Given the description of an element on the screen output the (x, y) to click on. 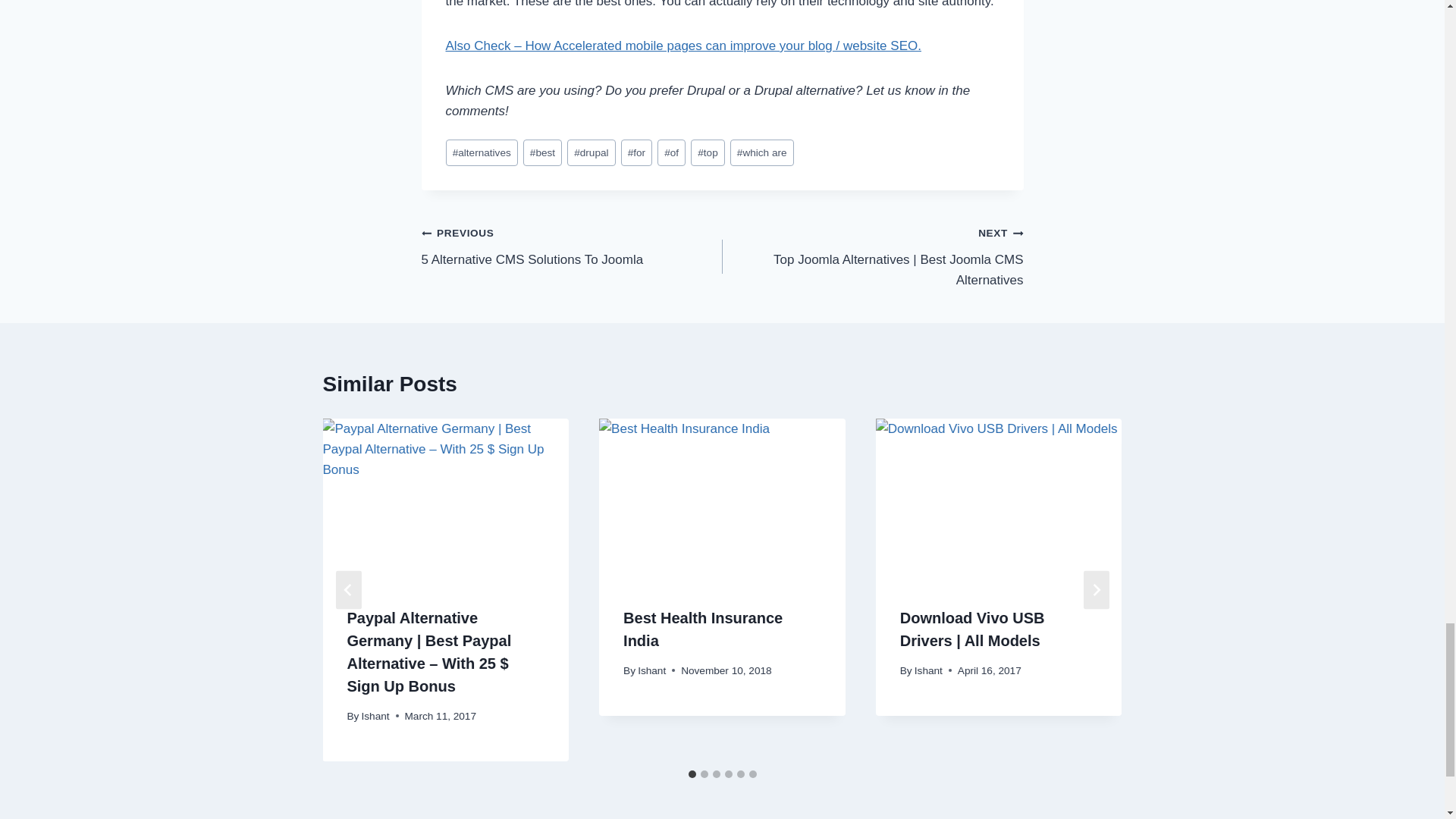
for (572, 245)
drupal (636, 152)
top (591, 152)
best (707, 152)
alternatives (542, 152)
which are (481, 152)
of (761, 152)
